Given the description of an element on the screen output the (x, y) to click on. 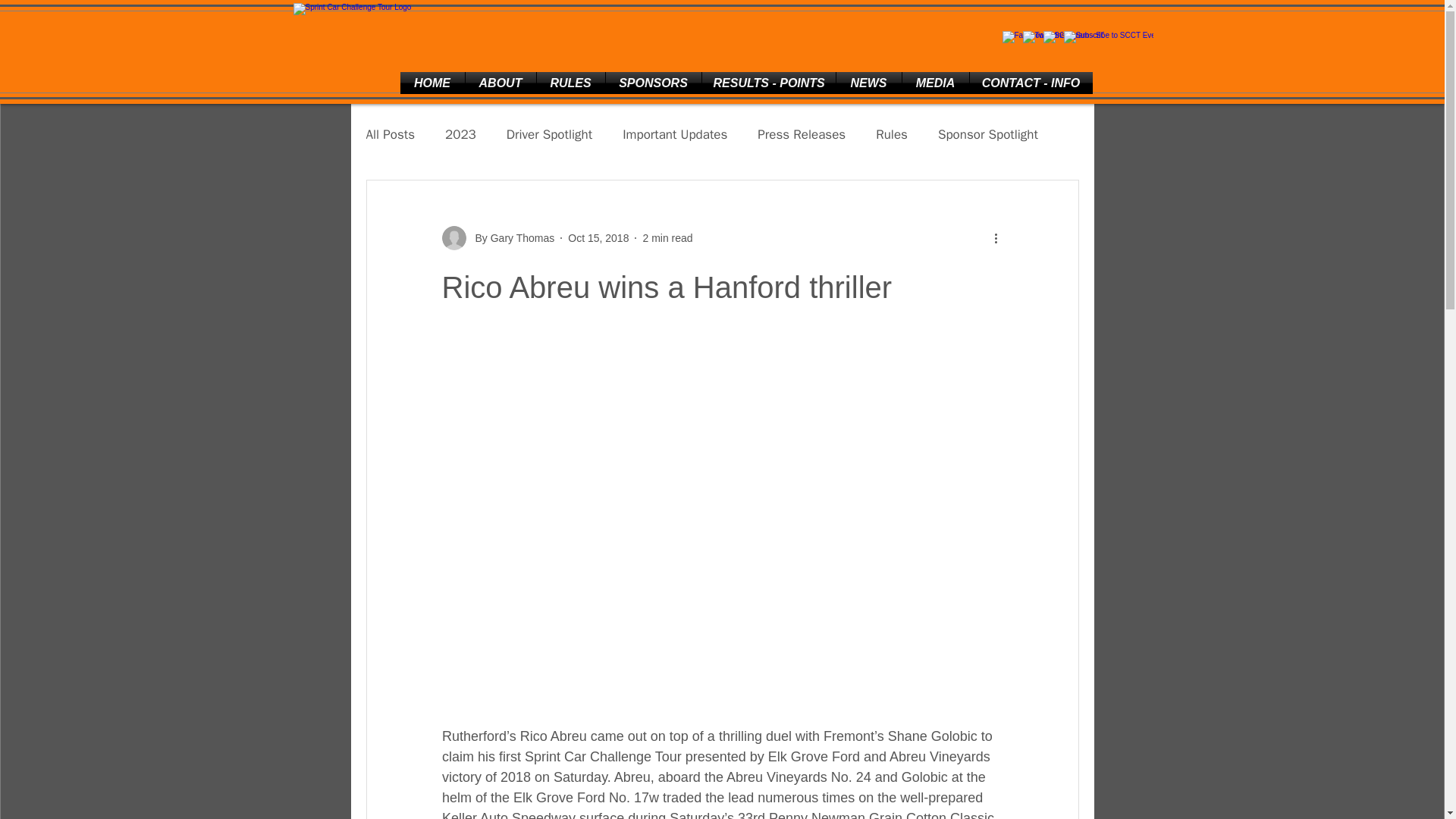
2 min read (667, 237)
HOME (432, 83)
RULES (571, 83)
SPONSORS (652, 83)
Oct 15, 2018 (597, 237)
By Gary Thomas (509, 238)
